Given the description of an element on the screen output the (x, y) to click on. 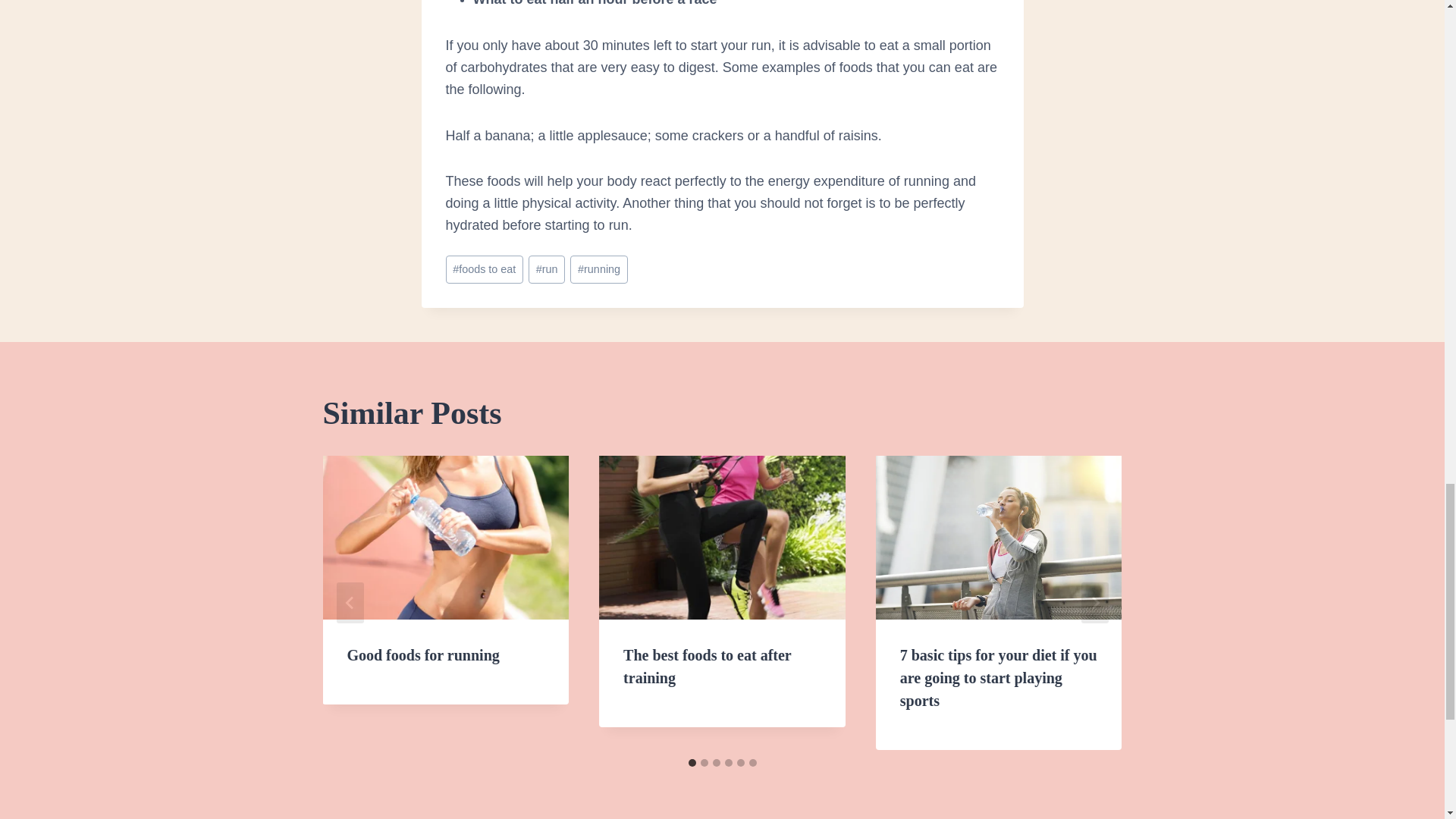
foods to eat (483, 269)
running (598, 269)
run (546, 269)
